Given the description of an element on the screen output the (x, y) to click on. 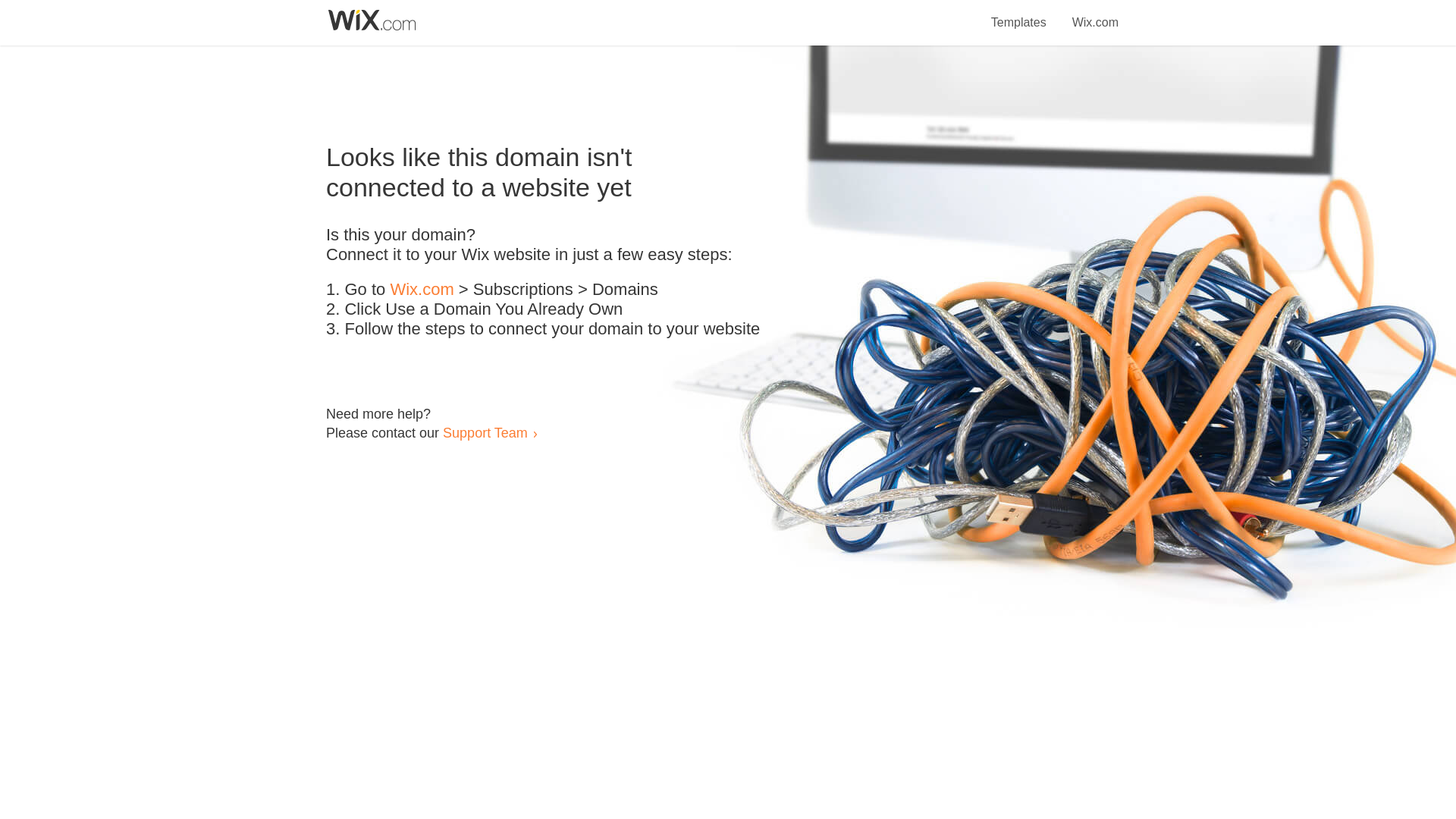
Wix.com (1095, 14)
Wix.com (421, 289)
Templates (1018, 14)
Support Team (484, 432)
